Given the description of an element on the screen output the (x, y) to click on. 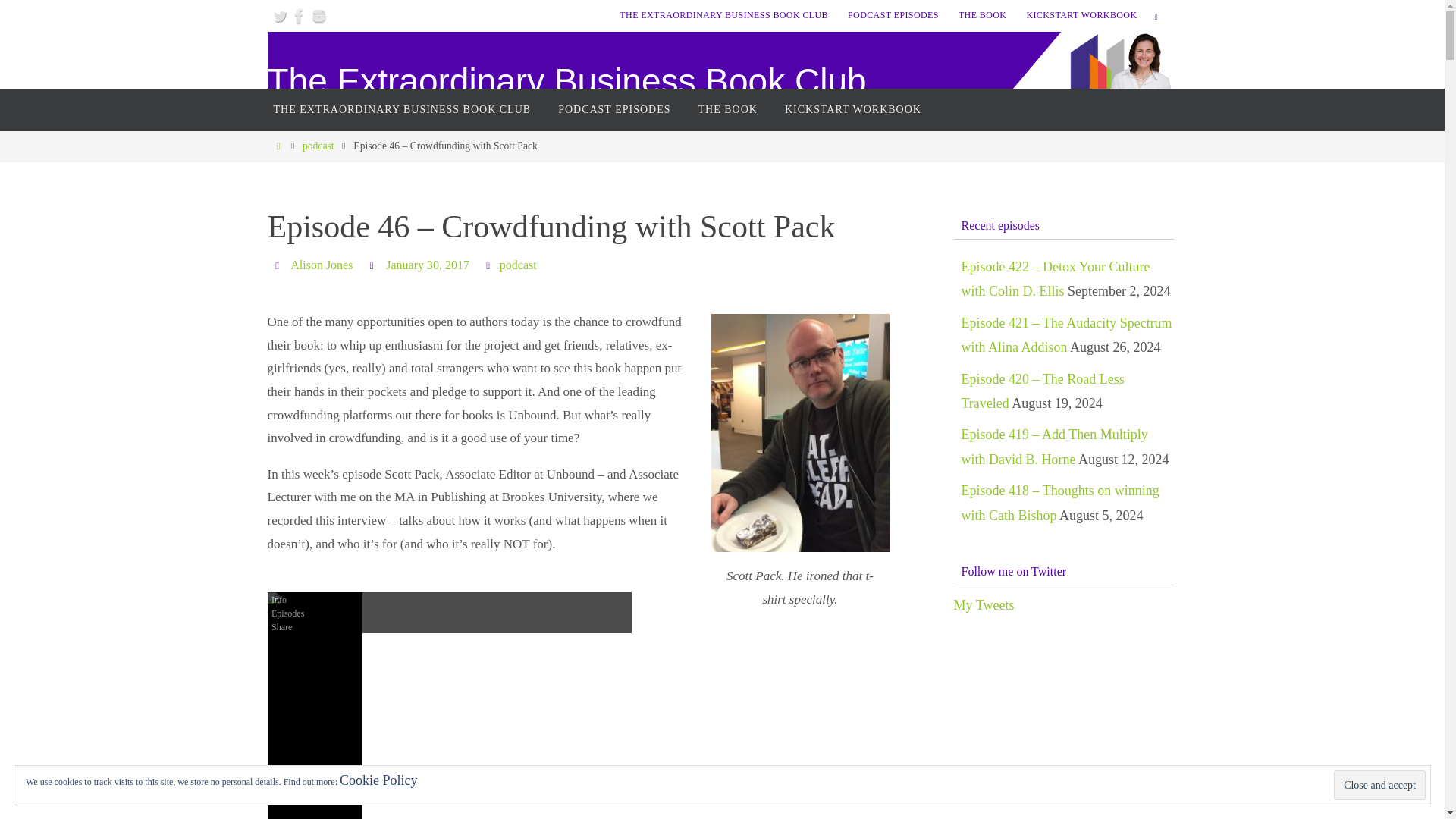
Date (373, 264)
January 30, 2017 (426, 264)
Twitter (278, 15)
KICKSTART WORKBOOK (852, 109)
View all posts by Alison Jones (320, 264)
The Extraordinary Business Book Club (566, 81)
THE BOOK (982, 14)
Categories (489, 264)
Home (277, 145)
PODCAST EPISODES (614, 109)
